Given the description of an element on the screen output the (x, y) to click on. 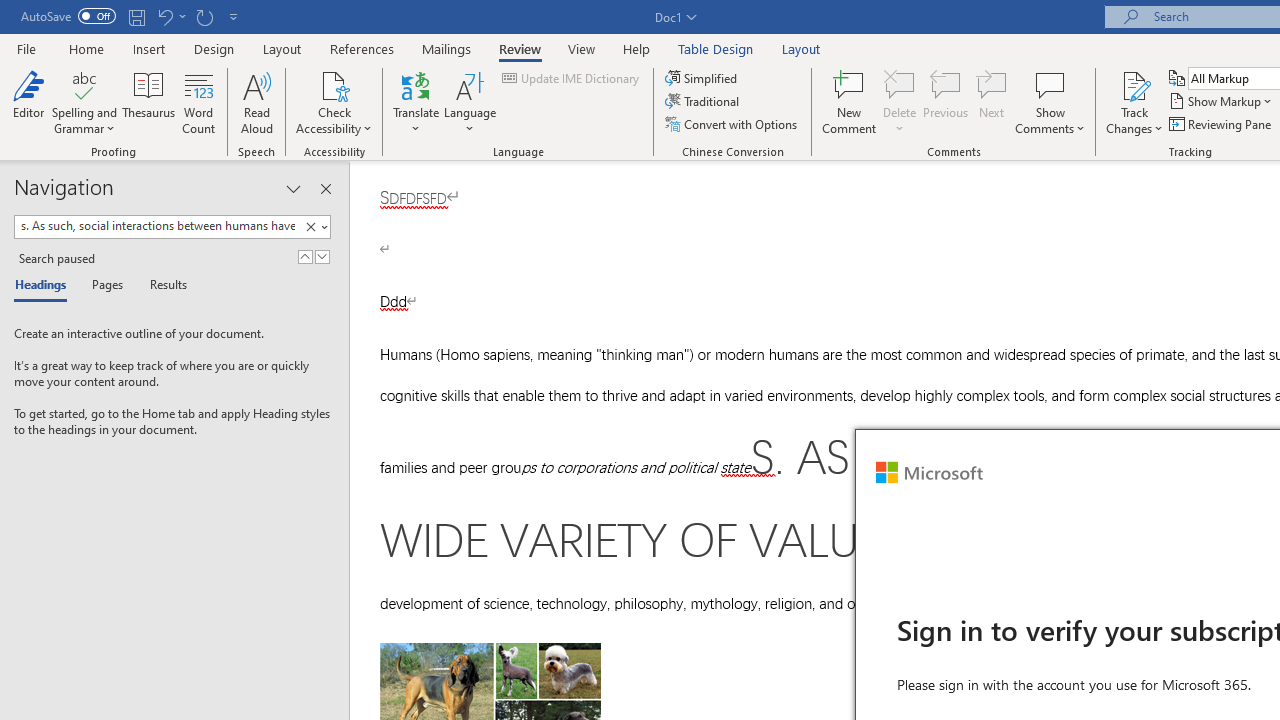
Spelling and Grammar (84, 84)
Track Changes (1134, 84)
New Comment (849, 102)
Next (991, 102)
Check Accessibility (334, 102)
Word Count (198, 102)
Traditional (703, 101)
Language (470, 102)
Convert with Options... (732, 124)
